Given the description of an element on the screen output the (x, y) to click on. 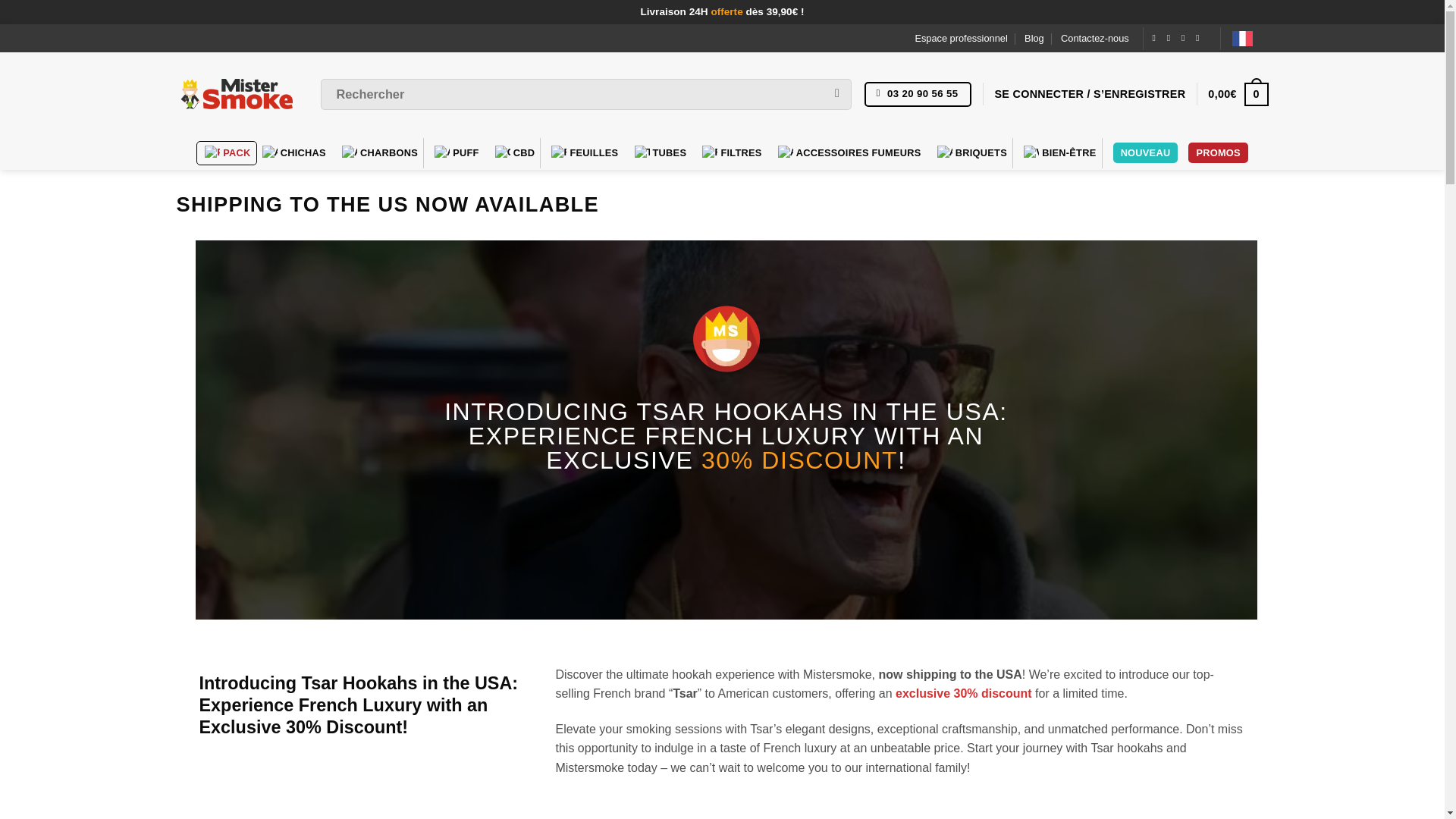
Contactez-nous (1095, 38)
PACK (226, 152)
Contactez-nous (918, 94)
Mistersmoke - La boutique chicha et accessoires fumeurs (236, 93)
Blog (1034, 38)
Espace professionnel (960, 38)
CHICHAS (296, 153)
Panier (1238, 94)
03 20 90 56 55 (918, 94)
